Given the description of an element on the screen output the (x, y) to click on. 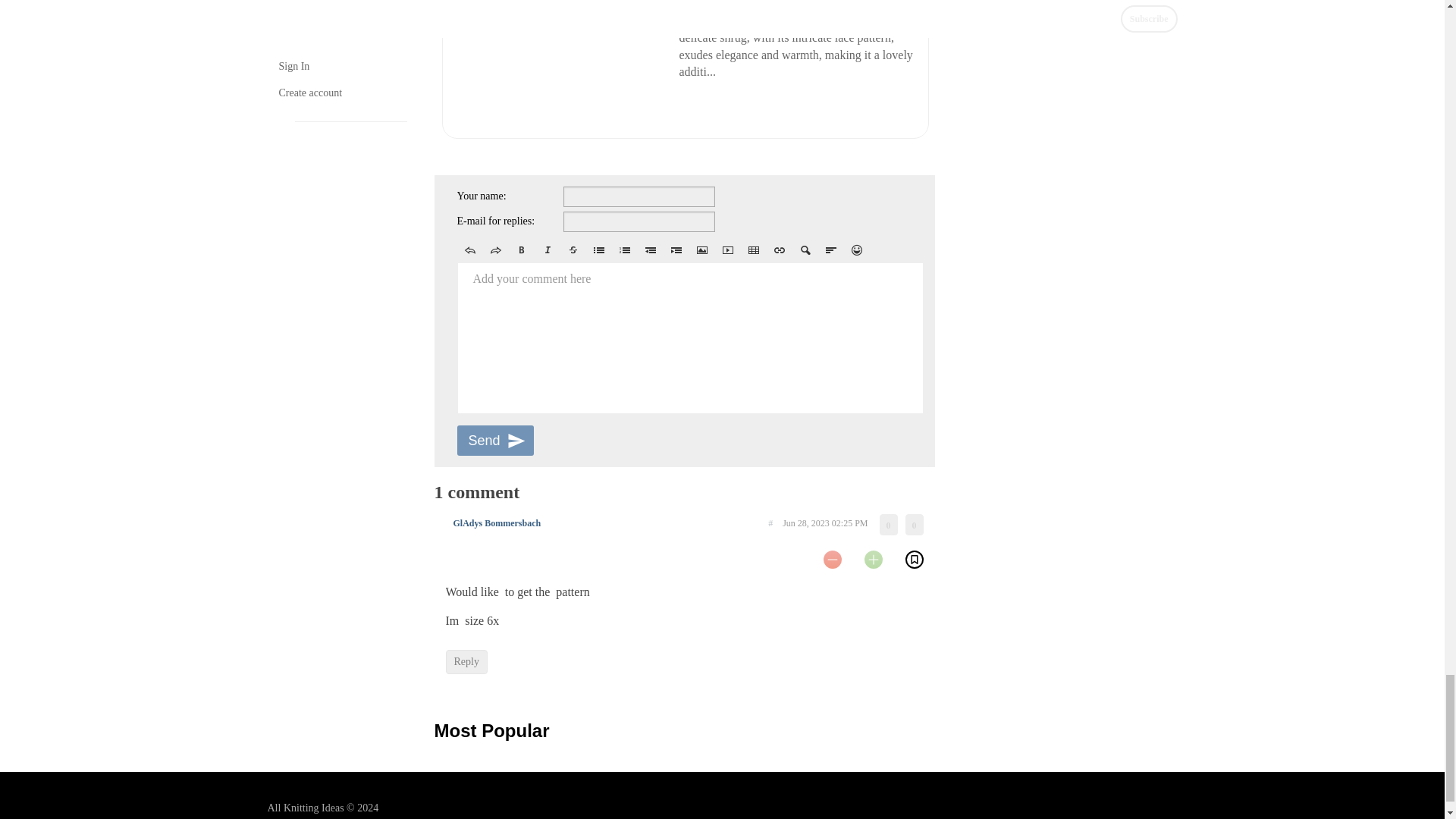
Redo (494, 250)
Bold (521, 250)
Insert Video (726, 250)
Send (494, 440)
Italic (546, 250)
Undo (469, 250)
Deleted (572, 250)
Table (752, 250)
Insert Image (701, 250)
